Given the description of an element on the screen output the (x, y) to click on. 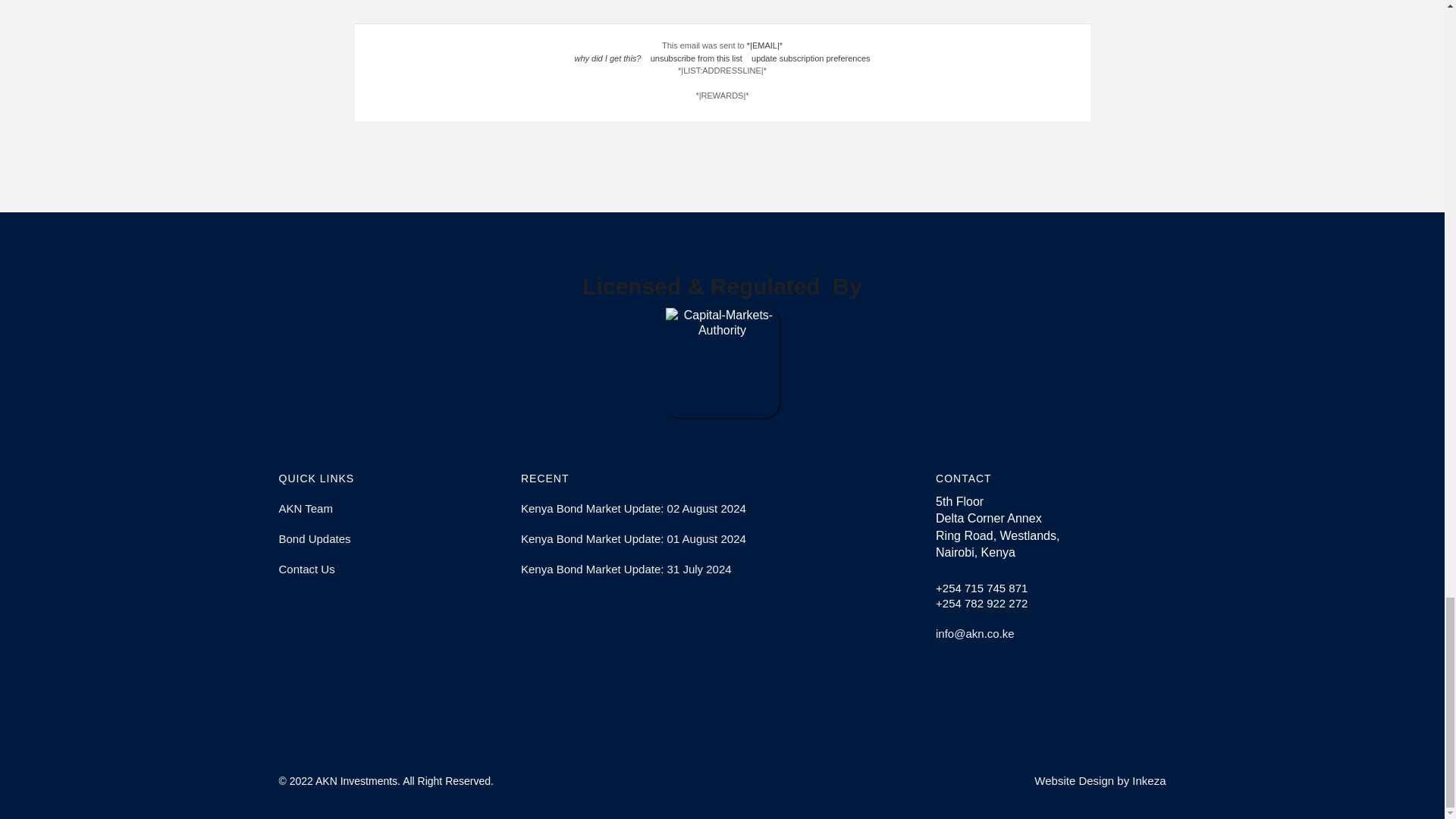
why did I get this? (606, 58)
Kenya Bond Market Update: 01 August 2024 (722, 539)
Bond Updates (393, 539)
Kenya Bond Market Update: 31 July 2024 (722, 569)
unsubscribe from this list (696, 58)
Contact Us (393, 569)
Kenya Bond Market Update: 02 August 2024 (722, 508)
update subscription preferences (810, 58)
AKN Team (393, 508)
Website Design by Inkeza (1099, 780)
